Given the description of an element on the screen output the (x, y) to click on. 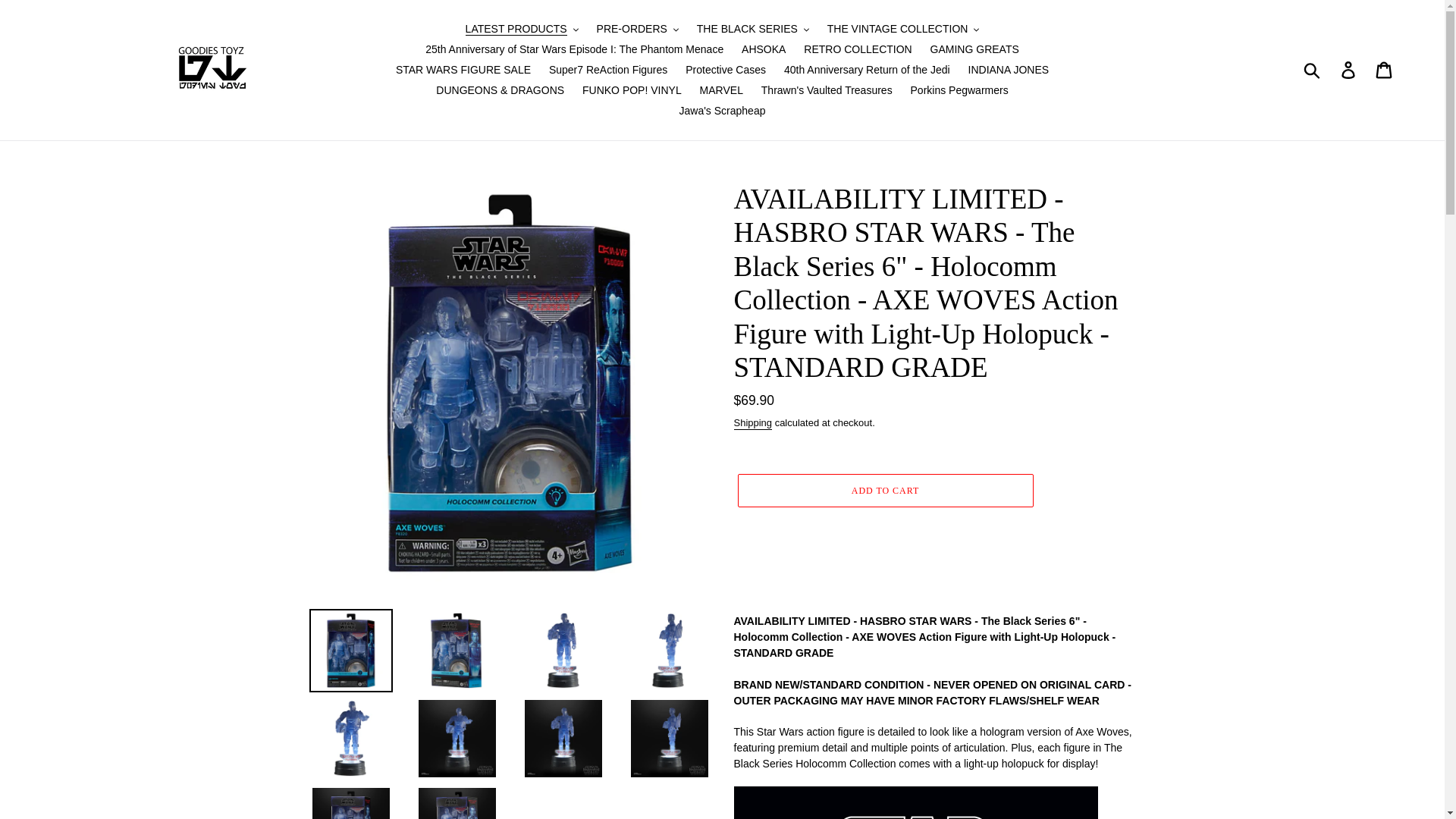
GAMING GREATS (974, 49)
Super7 ReAction Figures (608, 69)
INDIANA JONES (1008, 69)
FUNKO POP! VINYL (631, 90)
MARVEL (722, 90)
Protective Cases (725, 69)
Submit (1313, 69)
Jawa's Scrapheap (722, 110)
STAR WARS FIGURE SALE (463, 69)
Porkins Pegwarmers (959, 90)
40th Anniversary Return of the Jedi (867, 69)
AHSOKA (763, 49)
RETRO COLLECTION (857, 49)
25th Anniversary of Star Wars Episode I: The Phantom Menace (573, 49)
Thrawn's Vaulted Treasures (826, 90)
